Given the description of an element on the screen output the (x, y) to click on. 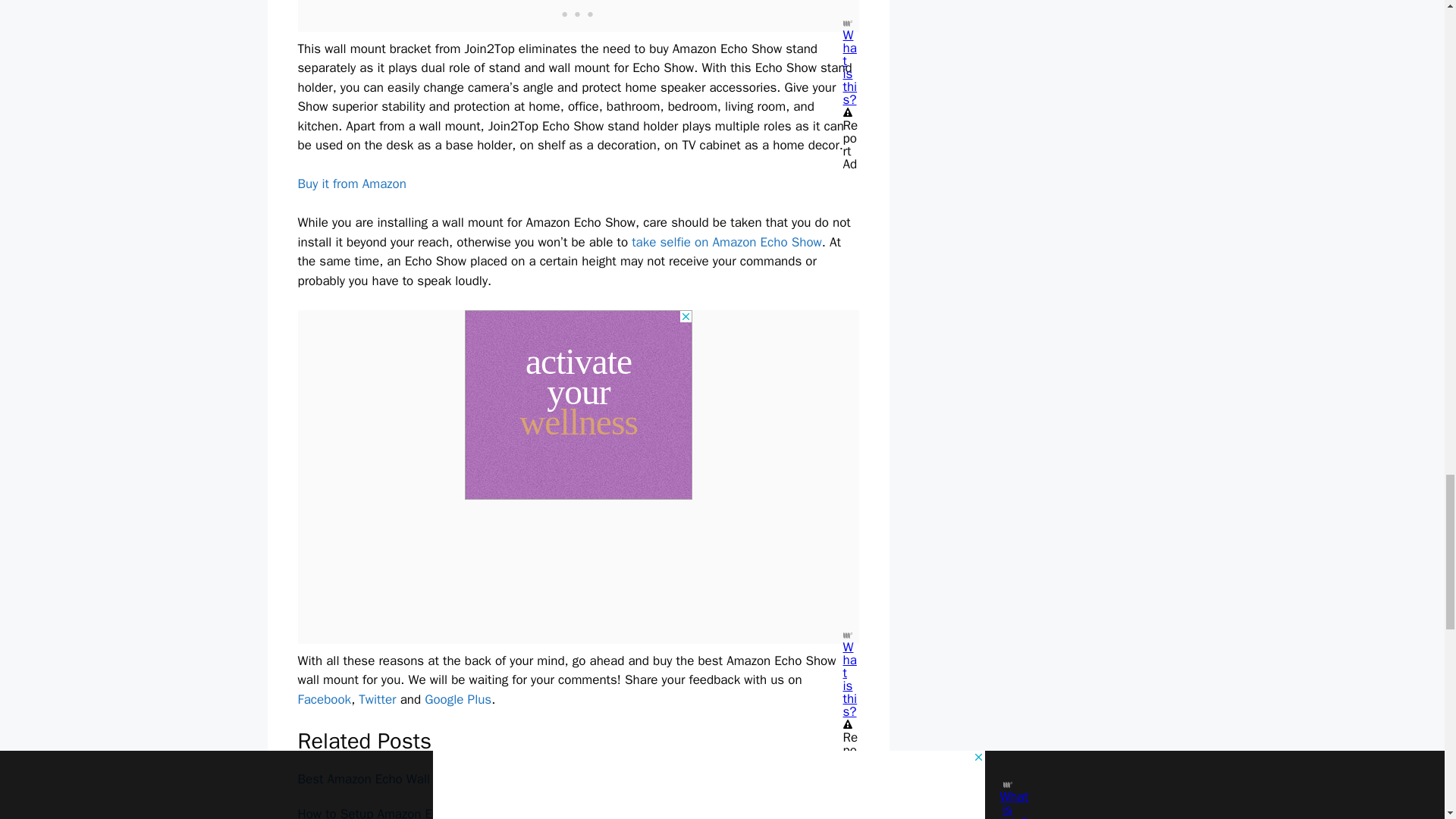
Twitter (377, 699)
Facebook (323, 699)
take selfie on Amazon Echo Show (726, 242)
Buy it from Amazon (351, 183)
How to Setup Amazon Echo Show (391, 812)
3rd party ad content (577, 404)
Google Plus (458, 699)
